Given the description of an element on the screen output the (x, y) to click on. 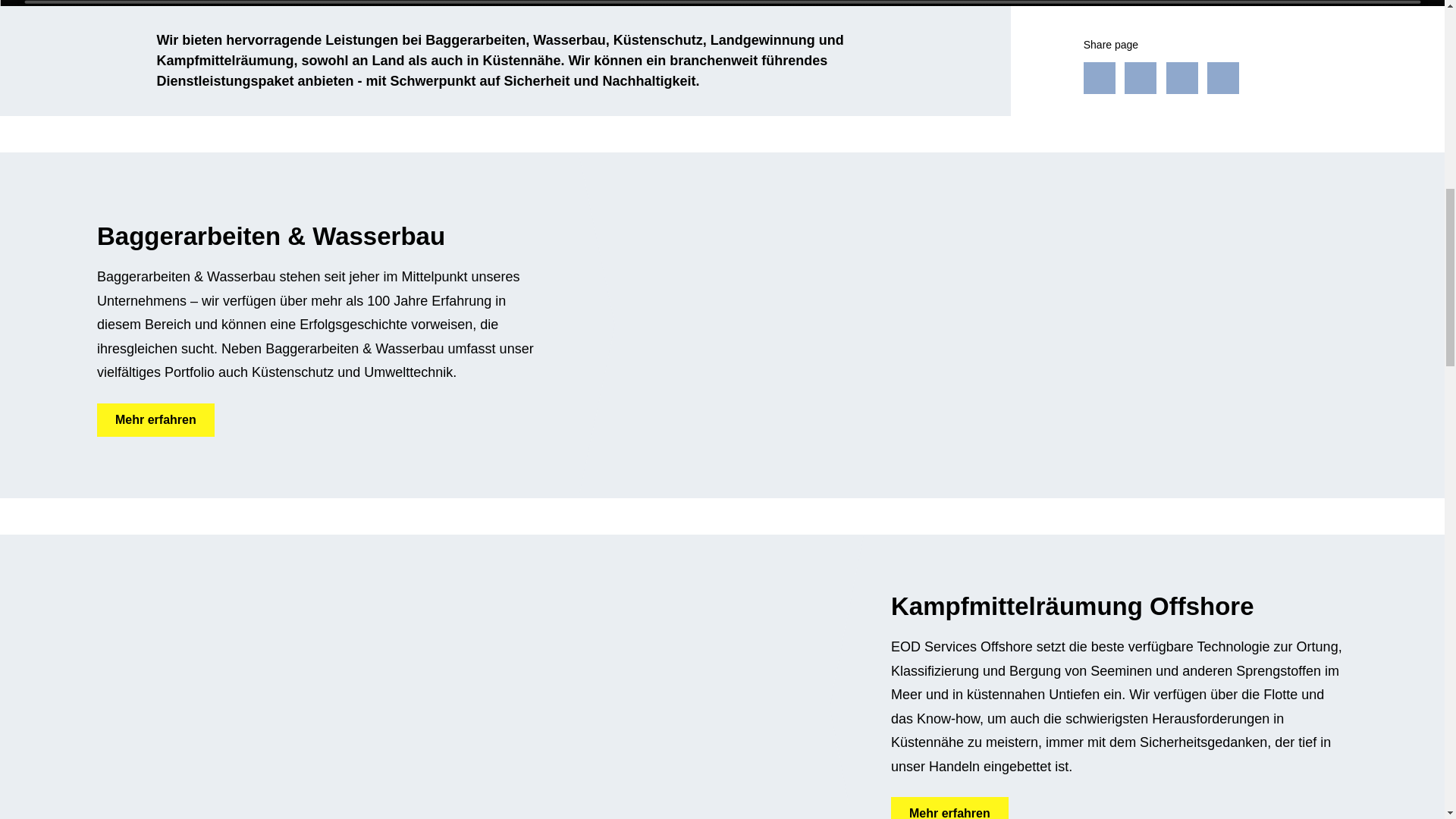
Teilen auf LinkedIn (1182, 78)
Mehr erfahren (950, 807)
Teilen auf Facebook (1099, 78)
Teilen auf WhatsApp (1223, 78)
Mehr erfahren (155, 419)
